Given the description of an element on the screen output the (x, y) to click on. 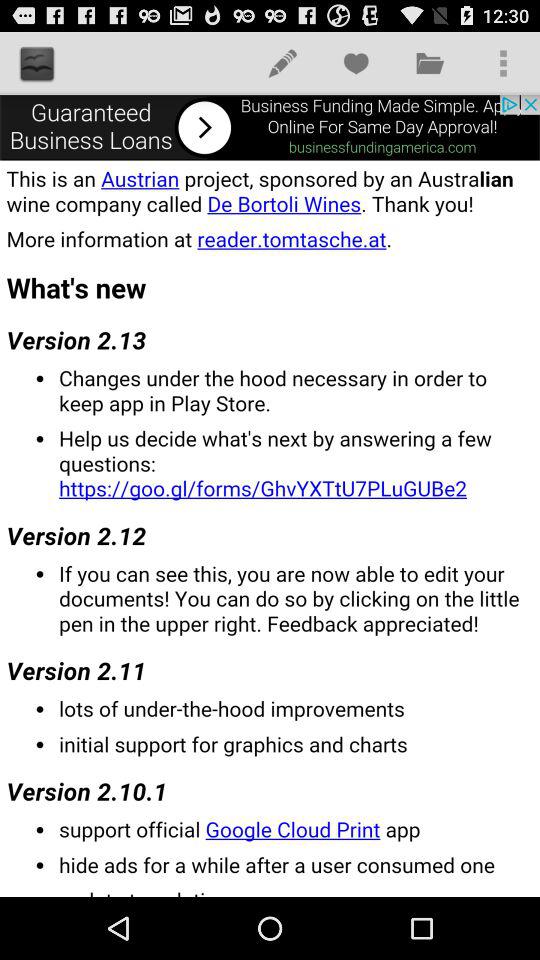
advertisement (270, 127)
